Given the description of an element on the screen output the (x, y) to click on. 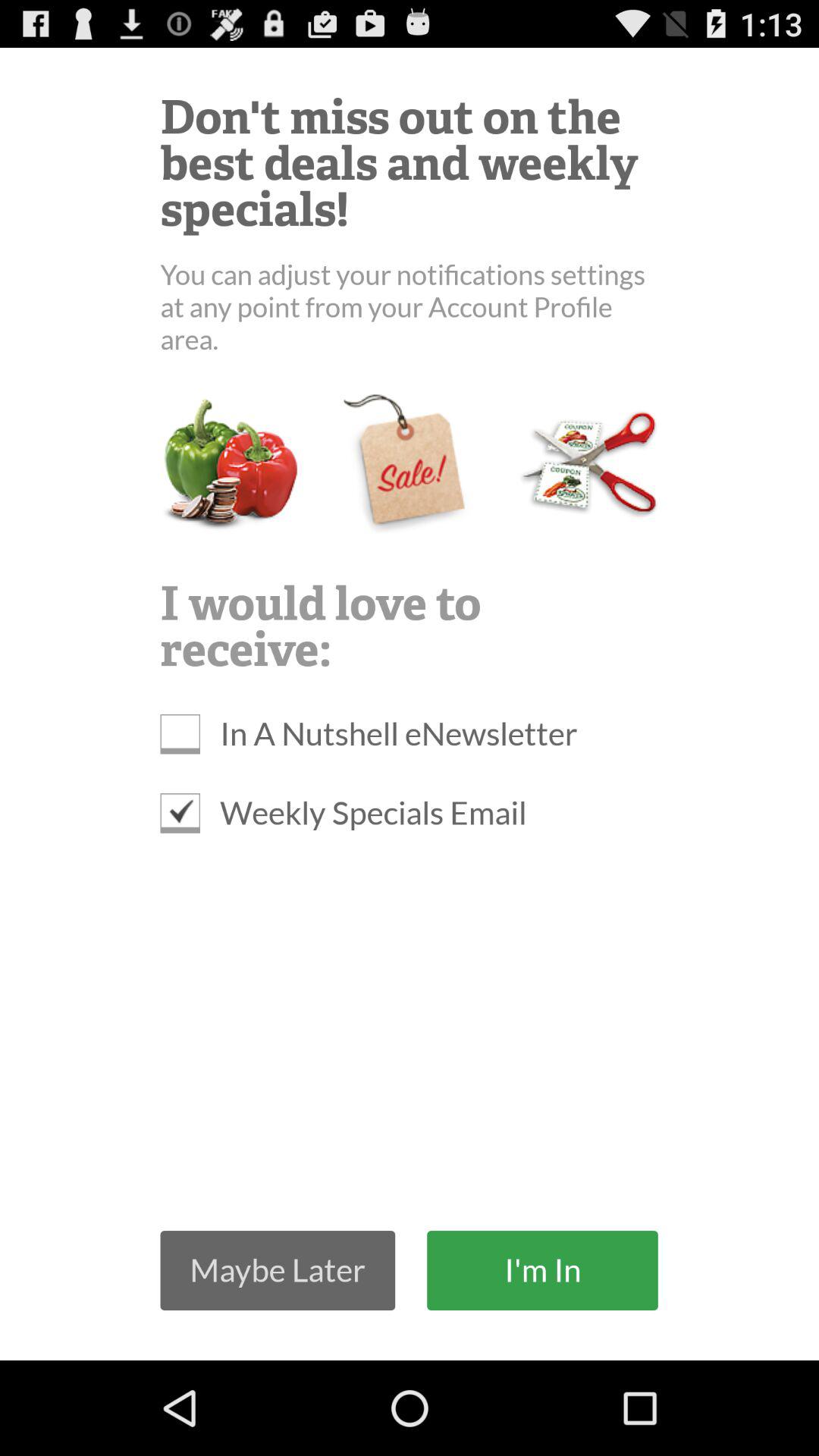
choose the item to the right of maybe later icon (542, 1270)
